Given the description of an element on the screen output the (x, y) to click on. 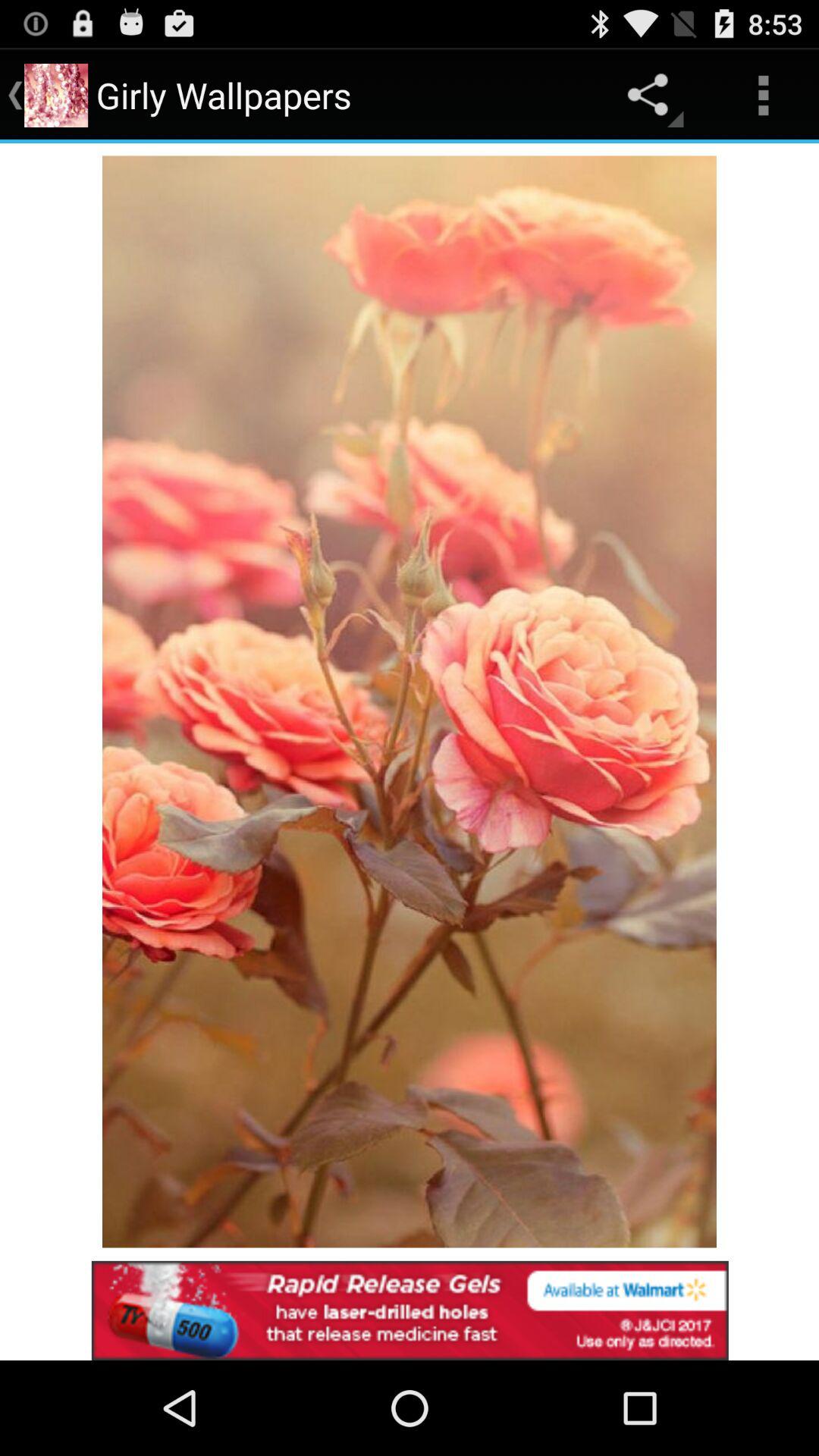
click advertisement at bottom (409, 1310)
